Given the description of an element on the screen output the (x, y) to click on. 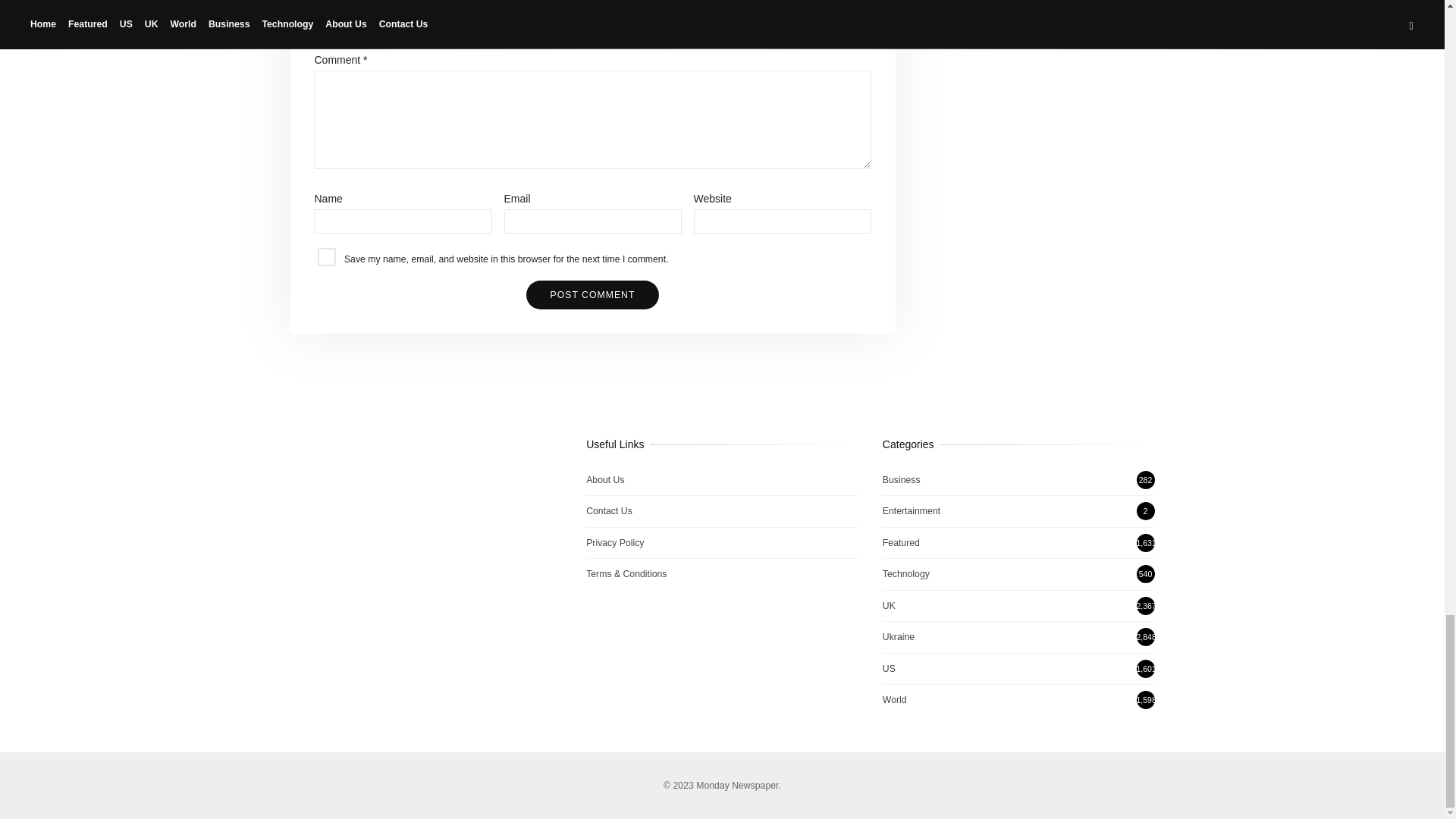
Post Comment (592, 294)
yes (325, 257)
